Given the description of an element on the screen output the (x, y) to click on. 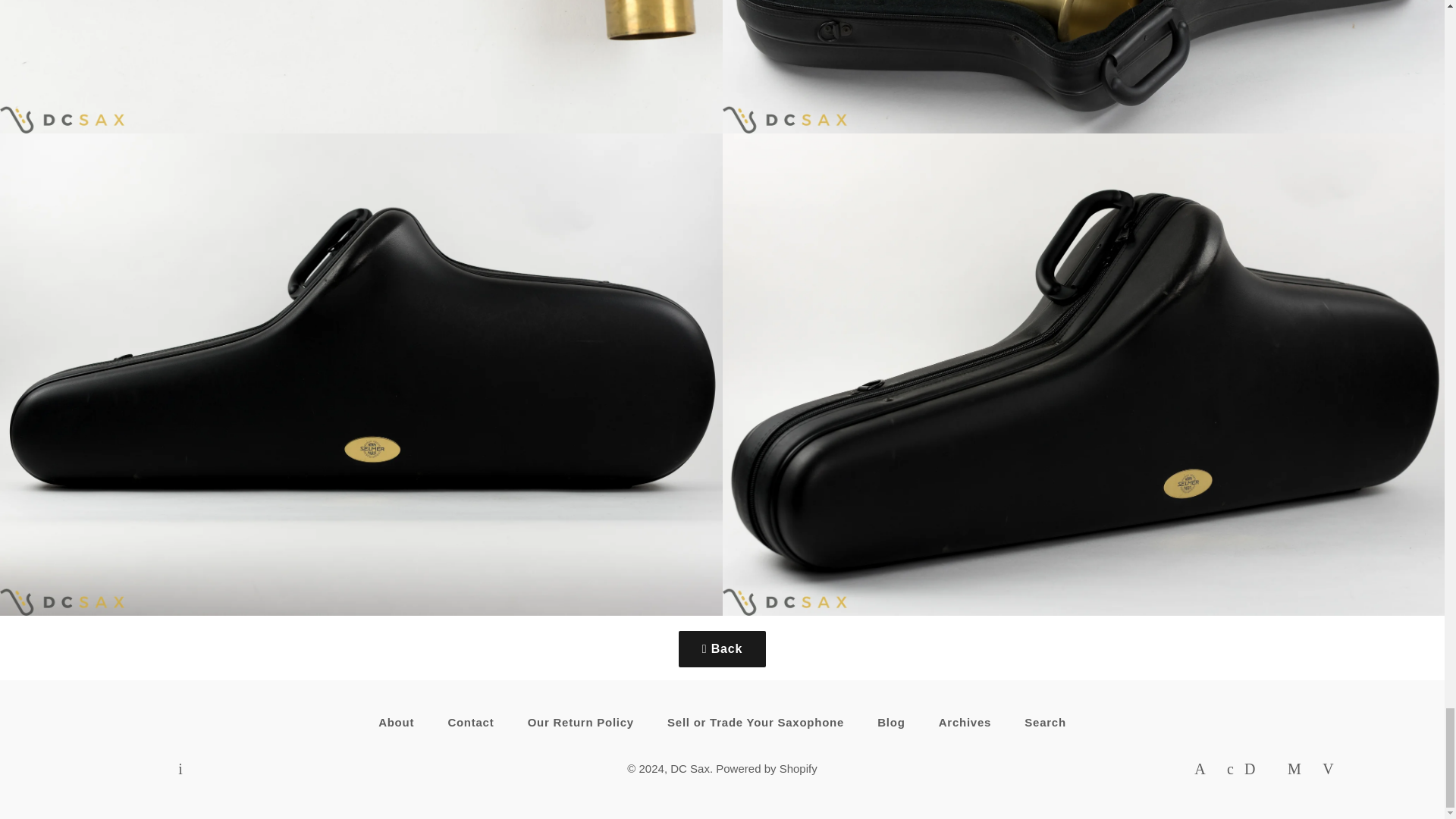
Back (721, 648)
Search (1045, 721)
Sell or Trade Your Saxophone (755, 721)
About (395, 721)
Blog (890, 721)
Archives (964, 721)
Our Return Policy (580, 721)
Powered by Shopify (766, 768)
DC Sax (689, 768)
Contact (470, 721)
